Given the description of an element on the screen output the (x, y) to click on. 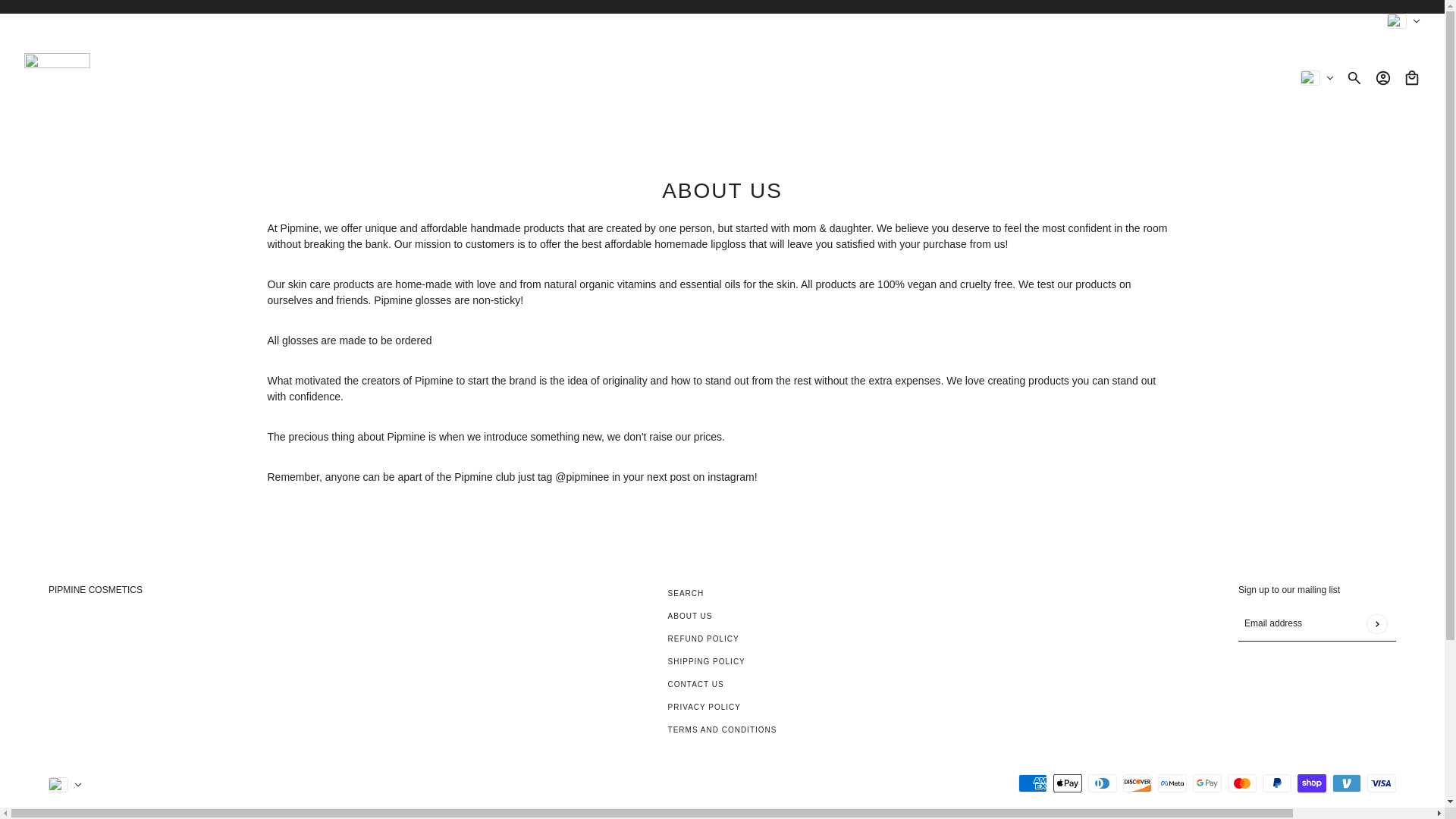
Terms and Conditions  (722, 729)
Pipmine (57, 78)
Shipping Policy (706, 661)
Contact Us (695, 684)
Refund Policy (703, 638)
About Us (690, 615)
Privacy Policy (704, 706)
